Given the description of an element on the screen output the (x, y) to click on. 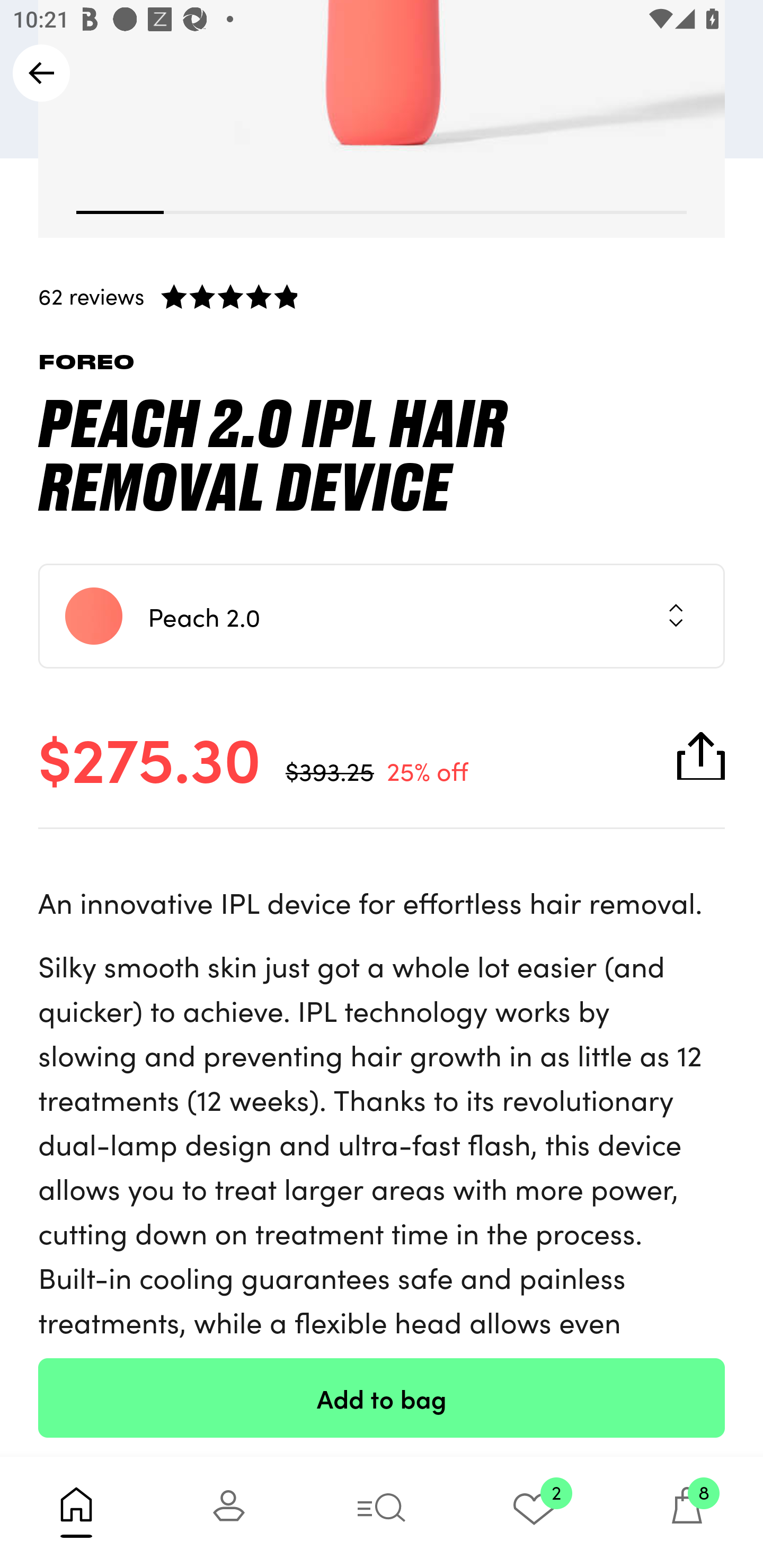
62 reviews (381, 295)
Peach 2.0  (381, 614)
Add to bag (381, 1397)
2 (533, 1512)
8 (686, 1512)
